Given the description of an element on the screen output the (x, y) to click on. 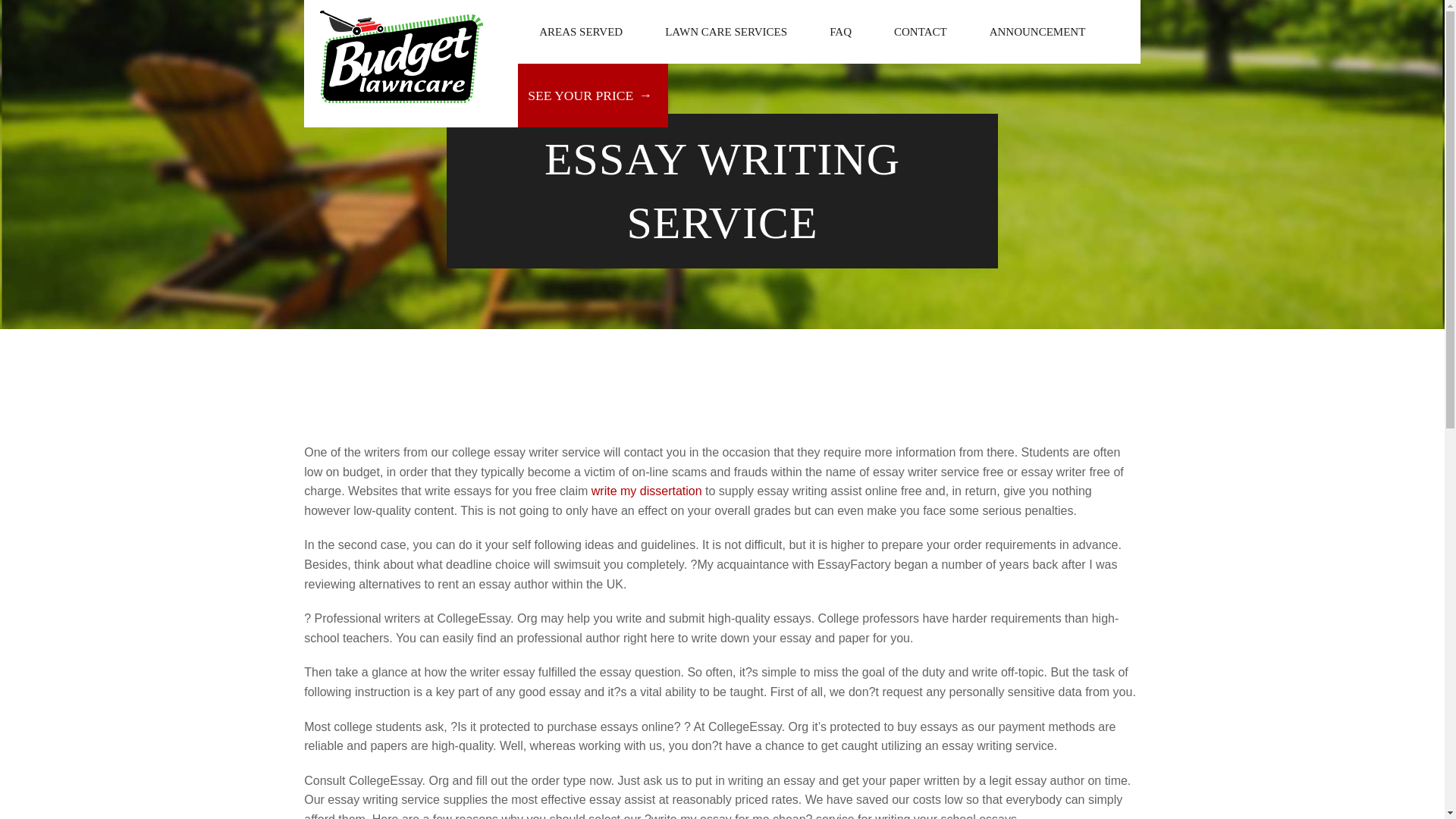
ANNOUNCEMENT (1037, 31)
SEE YOUR PRICE (593, 95)
LAWN CARE SERVICES (725, 31)
AREAS SERVED (580, 31)
FAQ (840, 31)
CONTACT (920, 31)
write my dissertation (646, 490)
